Given the description of an element on the screen output the (x, y) to click on. 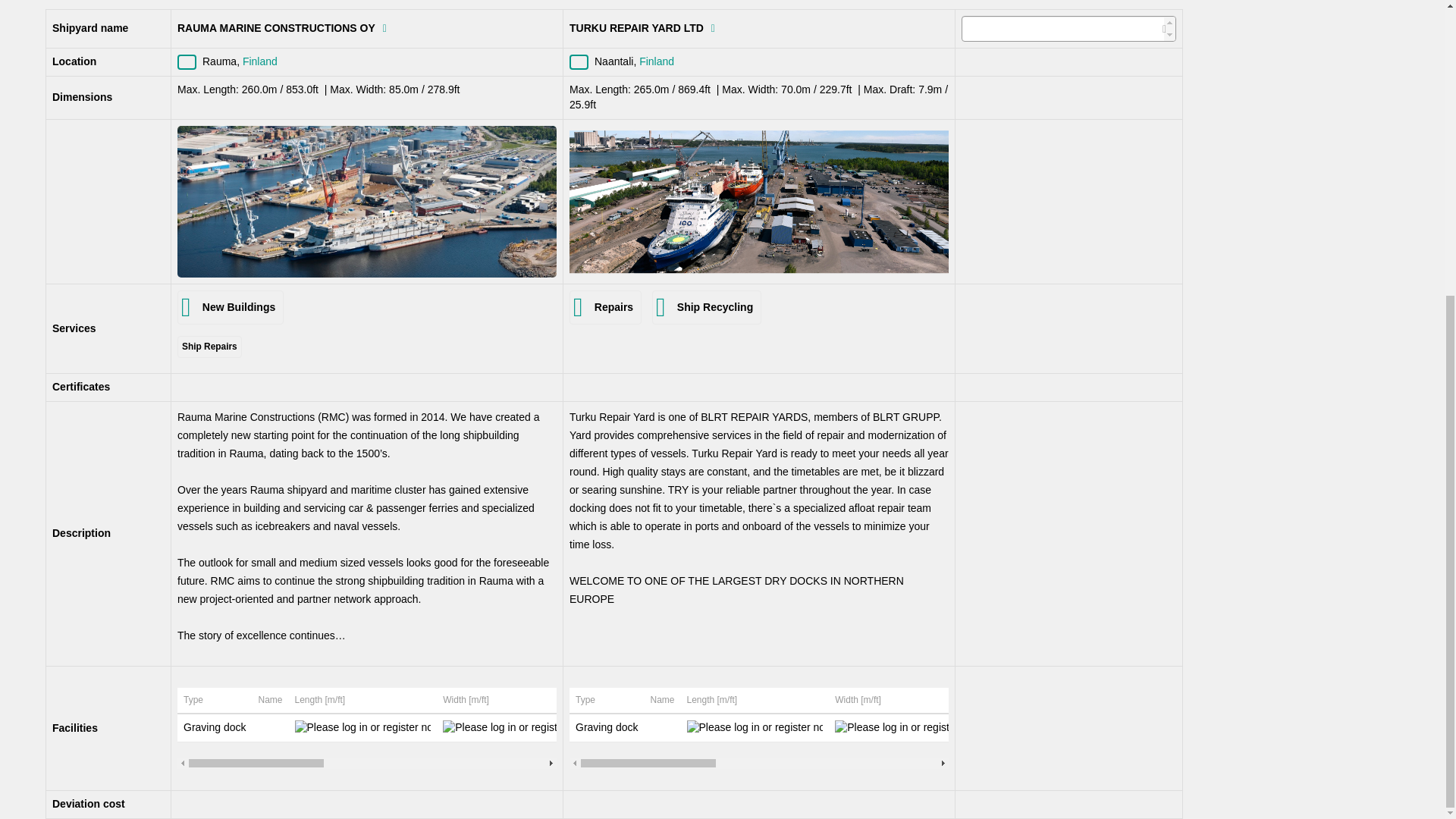
TURKU REPAIR YARD LTD (759, 201)
RAUMA MARINE CONSTRUCTIONS OY (366, 201)
Finland (578, 61)
Finland (186, 61)
